Given the description of an element on the screen output the (x, y) to click on. 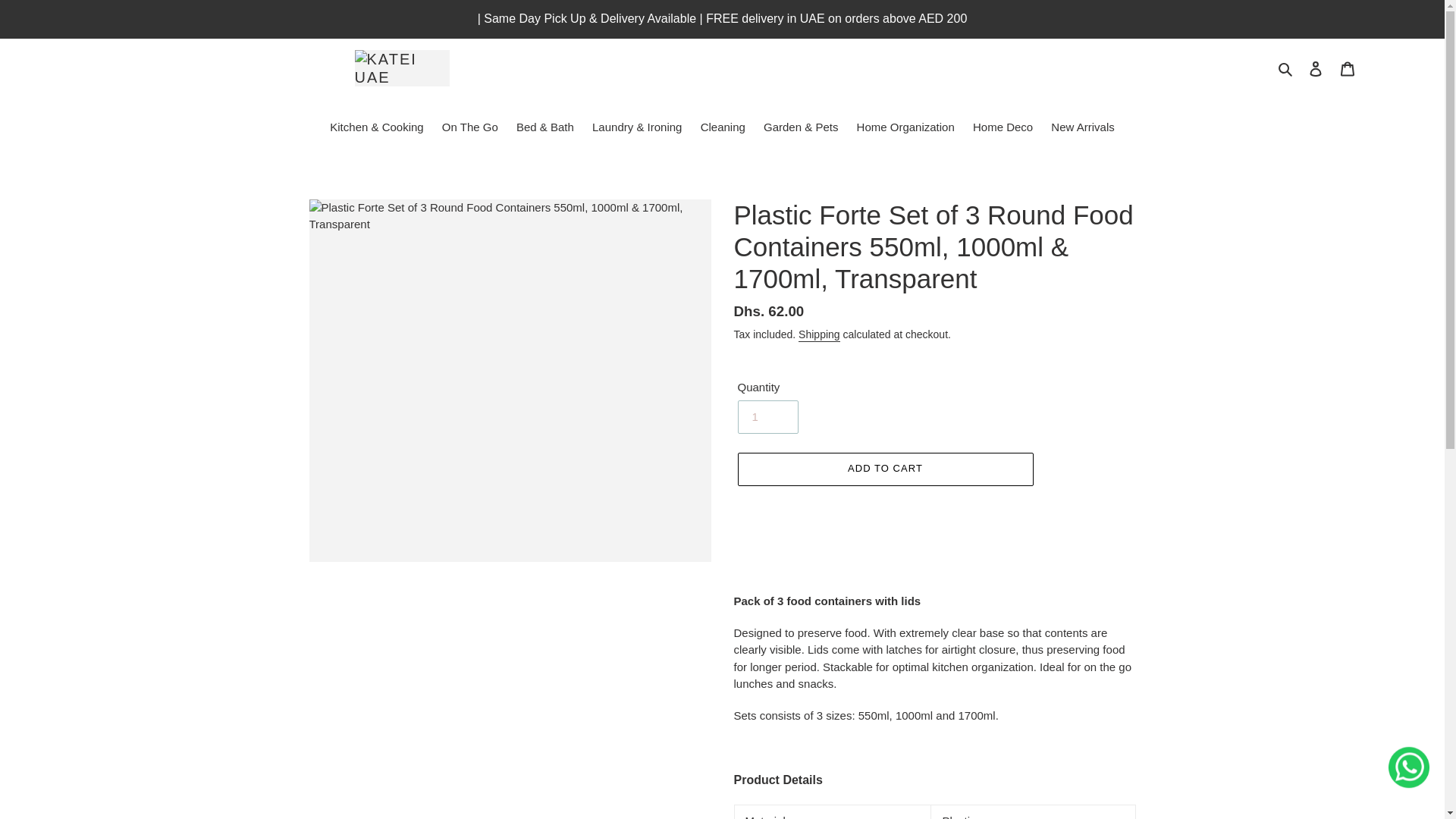
Log in (1316, 68)
Cleaning (722, 127)
On The Go (469, 127)
Cart (1347, 68)
1 (766, 417)
Search (1285, 67)
